Given the description of an element on the screen output the (x, y) to click on. 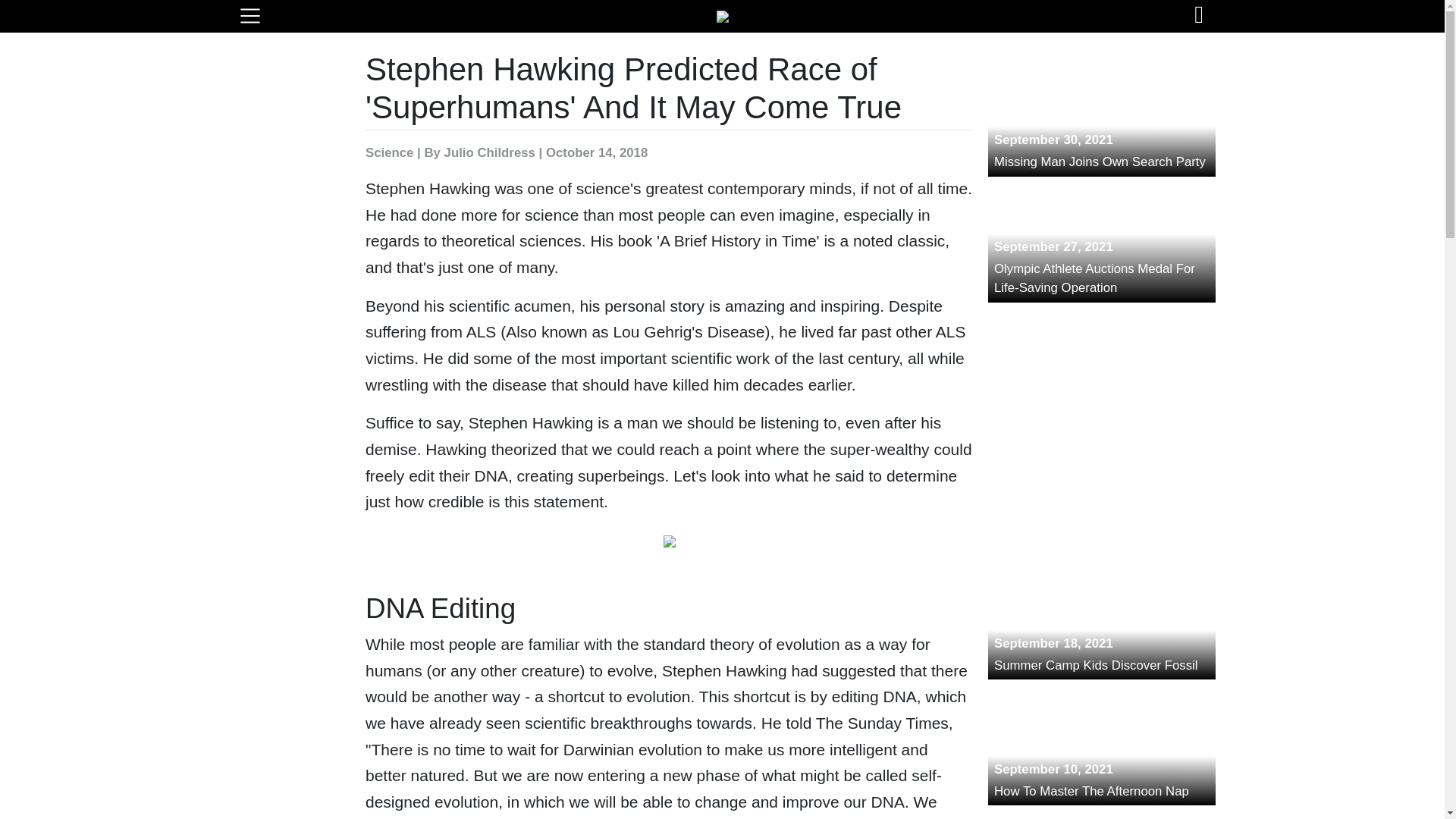
By Julio Childress (1101, 748)
Science (1101, 119)
